Given the description of an element on the screen output the (x, y) to click on. 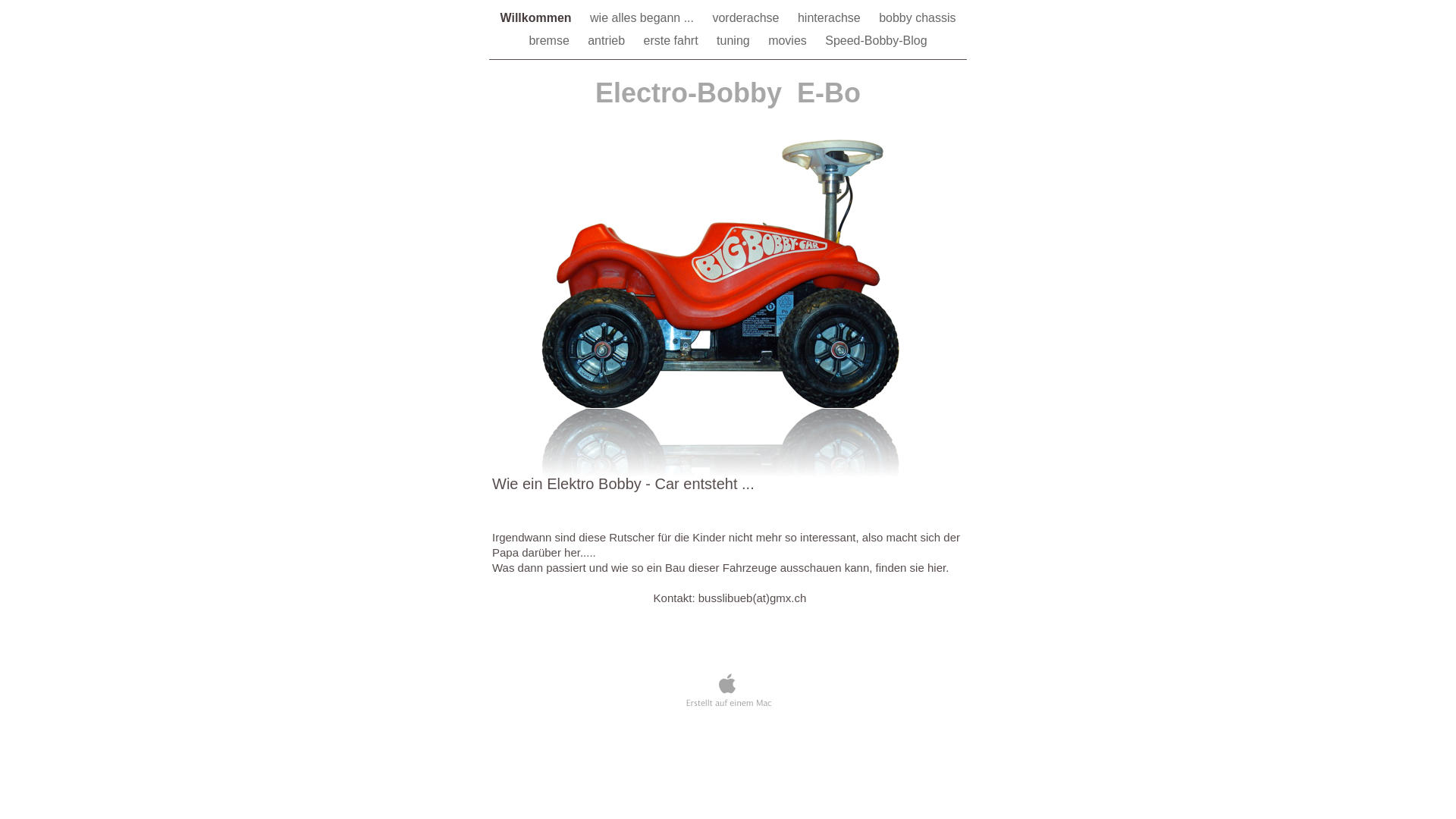
bobby chassis Element type: text (916, 17)
Willkommen Element type: text (536, 17)
movies Element type: text (788, 40)
antrieb Element type: text (607, 40)
tuning Element type: text (734, 40)
hinterachse Element type: text (830, 17)
vorderachse Element type: text (747, 17)
bremse Element type: text (550, 40)
erste fahrt Element type: text (672, 40)
wie alles begann ... Element type: text (642, 17)
Speed-Bobby-Blog Element type: text (875, 40)
